Given the description of an element on the screen output the (x, y) to click on. 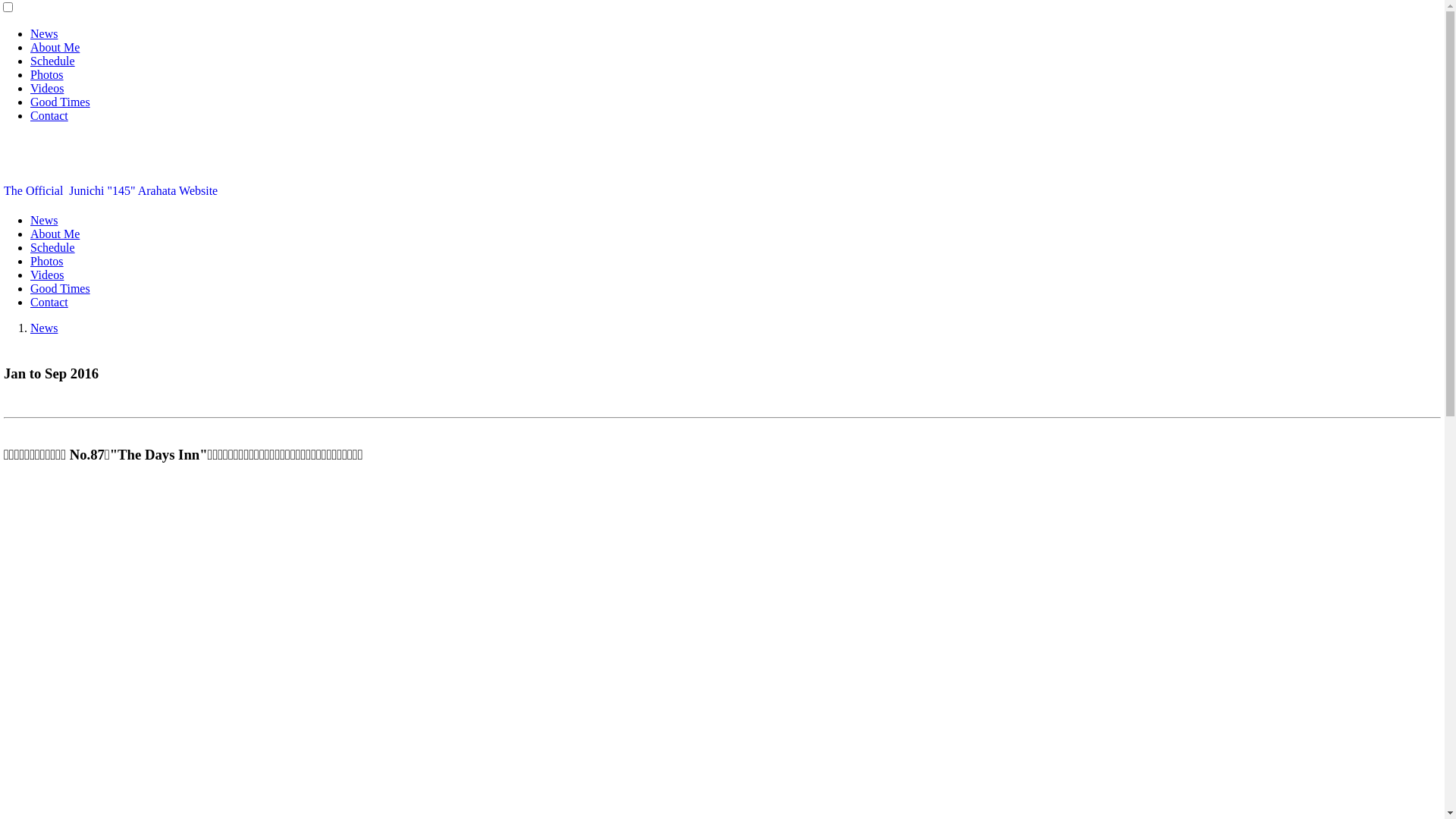
Schedule Element type: text (52, 247)
News Element type: text (43, 33)
About Me Element type: text (54, 46)
Videos Element type: text (46, 87)
Contact Element type: text (49, 115)
Good Times Element type: text (60, 101)
Photos Element type: text (46, 260)
Schedule Element type: text (52, 60)
Good Times Element type: text (60, 288)
Photos Element type: text (46, 74)
News Element type: text (43, 219)
About Me Element type: text (54, 233)
News Element type: text (43, 327)
The Official  Junichi "145" Arahata Website Element type: text (110, 190)
Videos Element type: text (46, 274)
Contact Element type: text (49, 301)
